Given the description of an element on the screen output the (x, y) to click on. 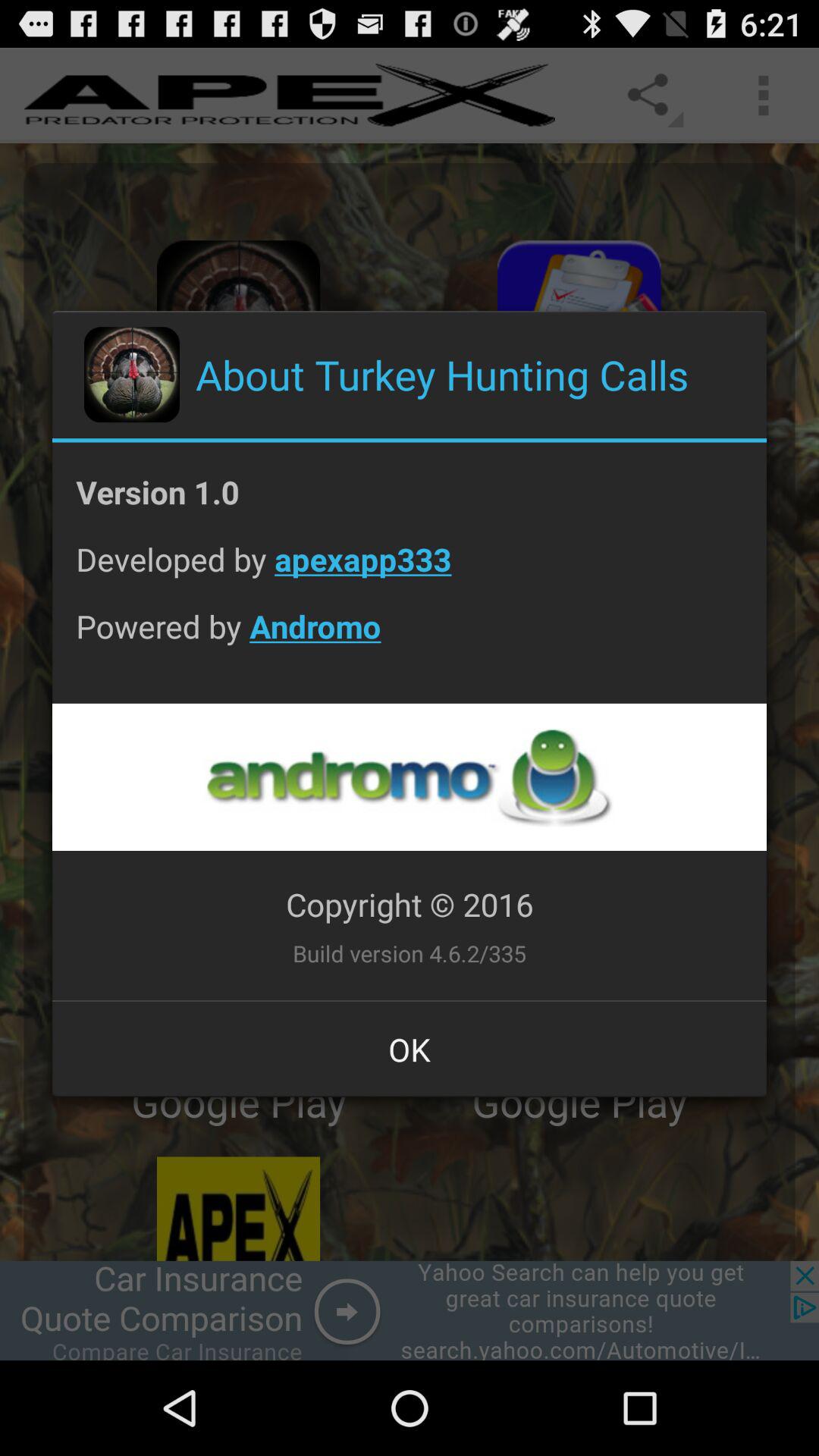
select the powered by andromo (409, 637)
